Given the description of an element on the screen output the (x, y) to click on. 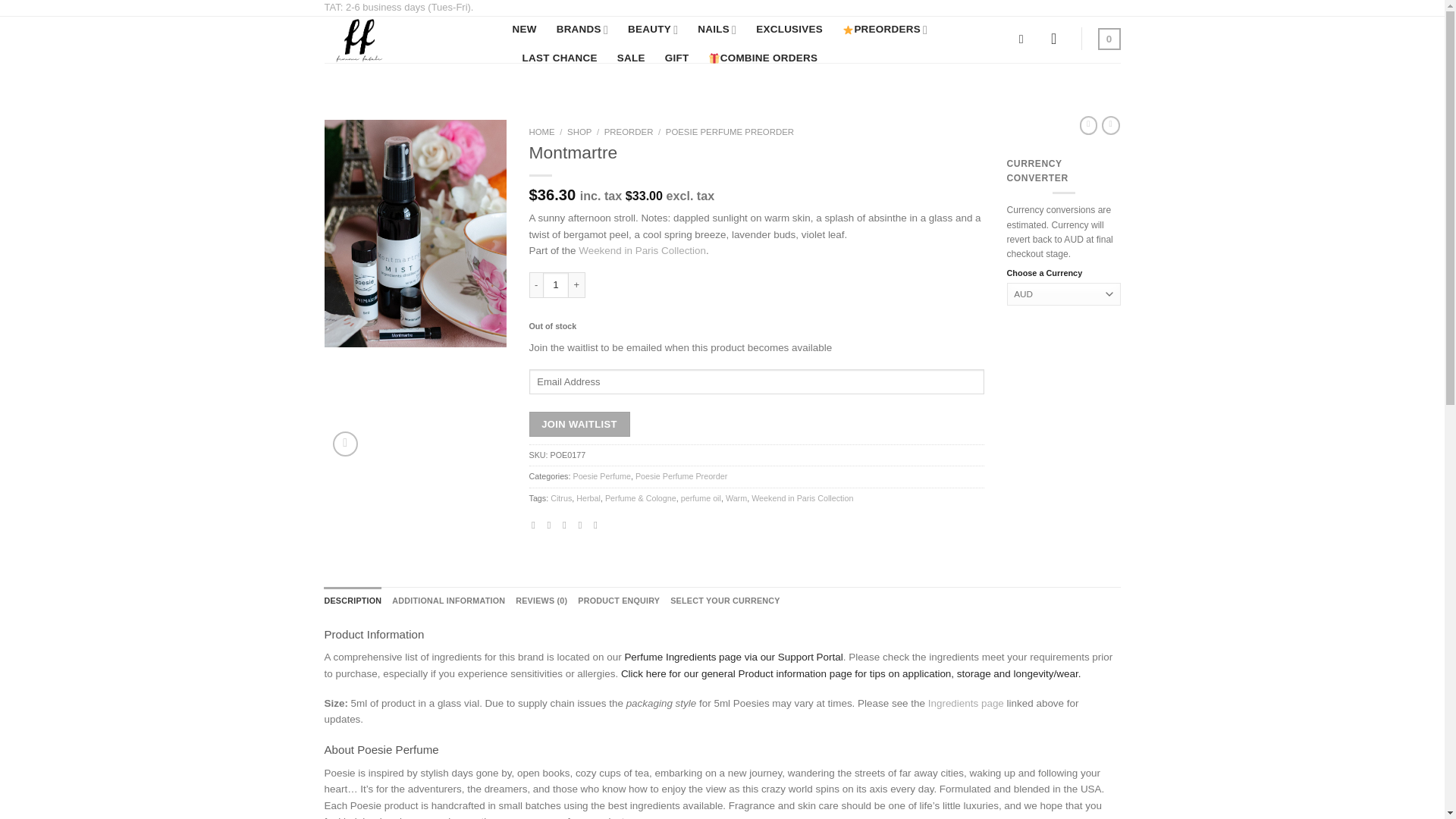
Zoom (345, 443)
Pin on Pinterest (583, 524)
NEW (524, 29)
Share on Facebook (536, 524)
Share on Twitter (552, 524)
Email to a Friend (567, 524)
Original price:36.3 (552, 194)
BRANDS (582, 30)
Share on LinkedIn (599, 524)
1 (556, 284)
Original price:33 (644, 195)
